Given the description of an element on the screen output the (x, y) to click on. 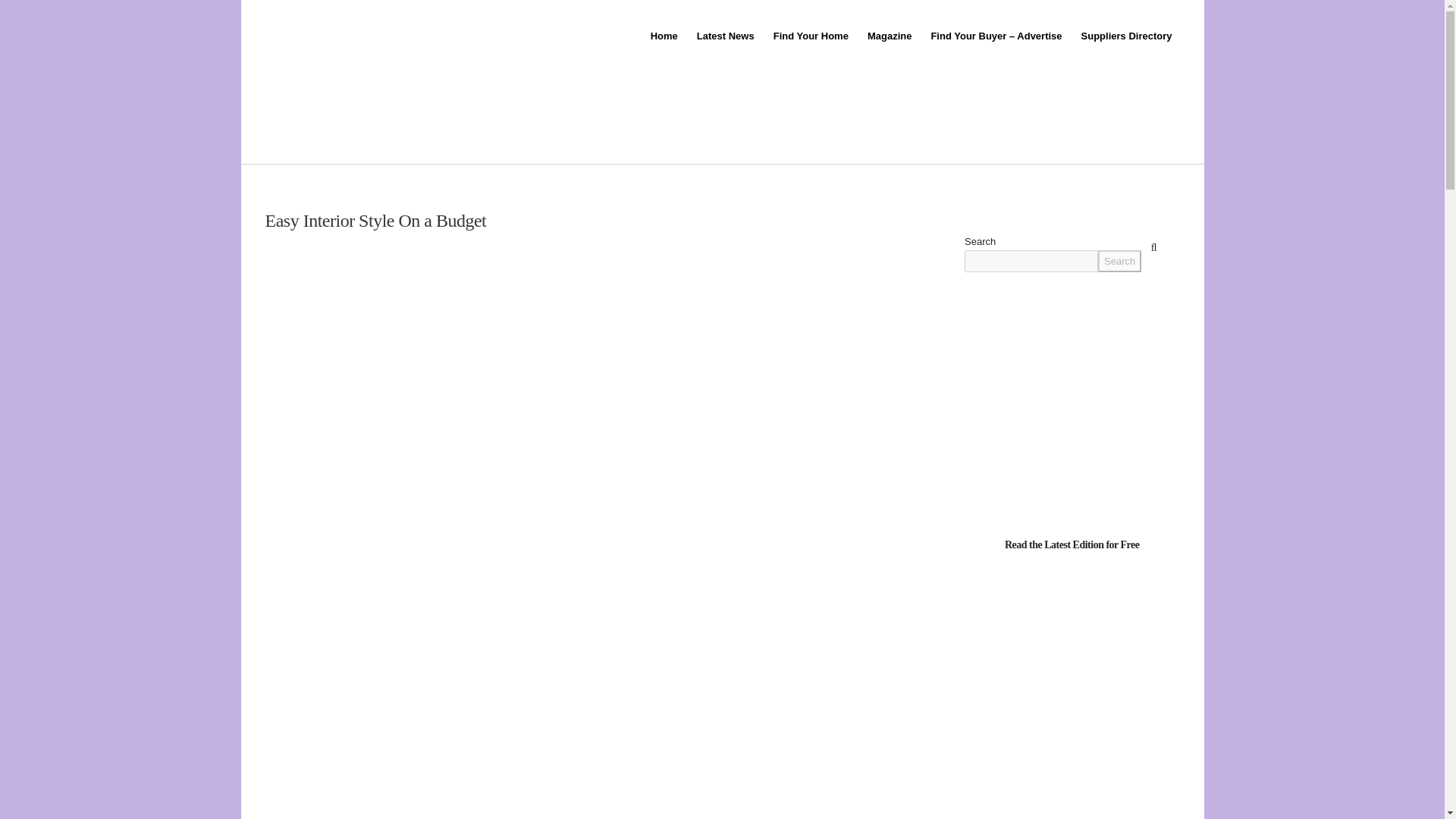
Latest News (724, 36)
Home (662, 36)
Search (1119, 260)
Find Your Home (809, 36)
Magazine (888, 36)
Suppliers Directory (1125, 36)
Read the Latest Edition for Free (1072, 543)
